Given the description of an element on the screen output the (x, y) to click on. 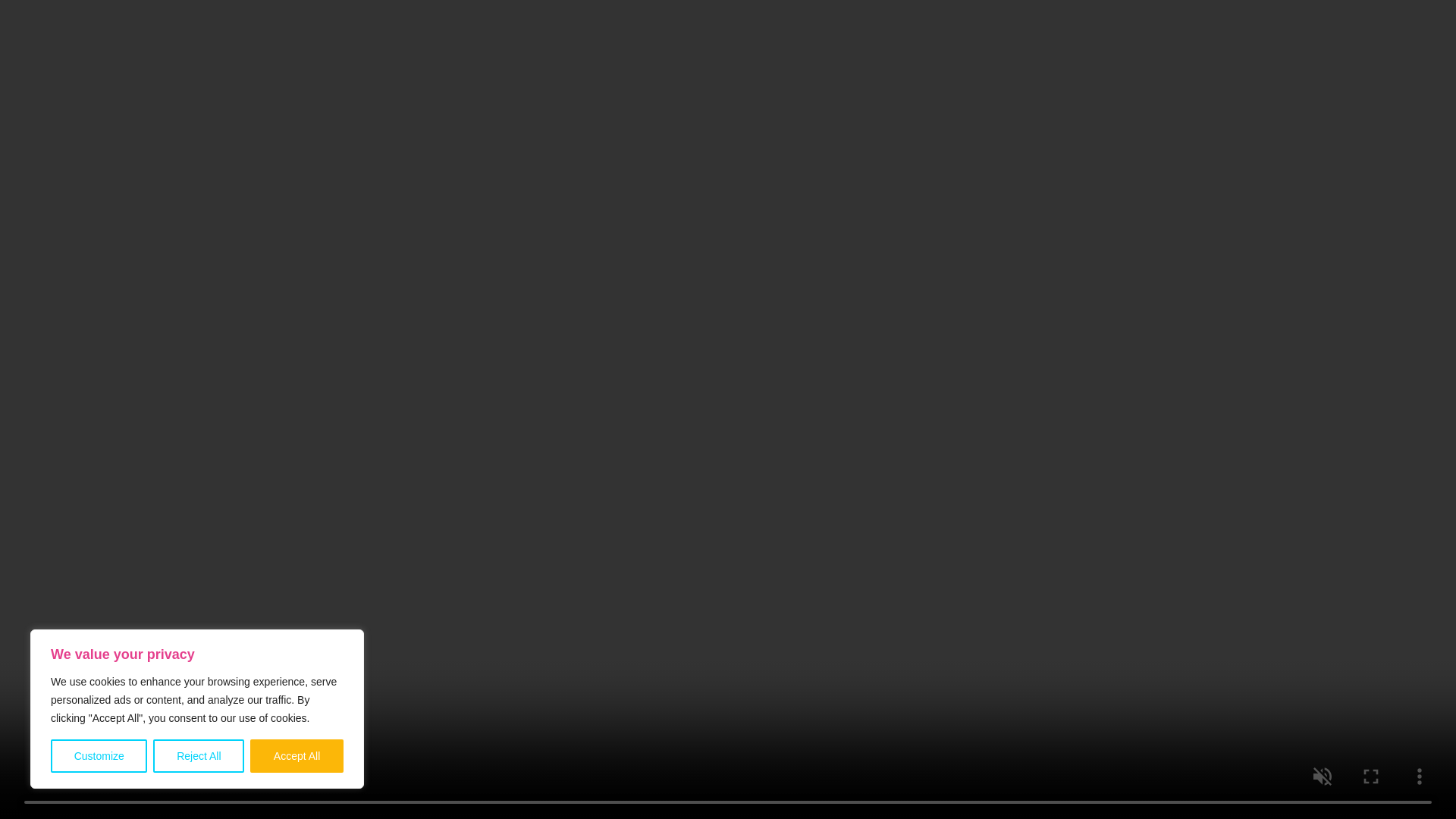
Skip to content (15, 7)
MENU (1164, 45)
Accept All (296, 756)
Home (660, 740)
Search for... (712, 171)
Reject All (198, 756)
Customize (98, 756)
